Given the description of an element on the screen output the (x, y) to click on. 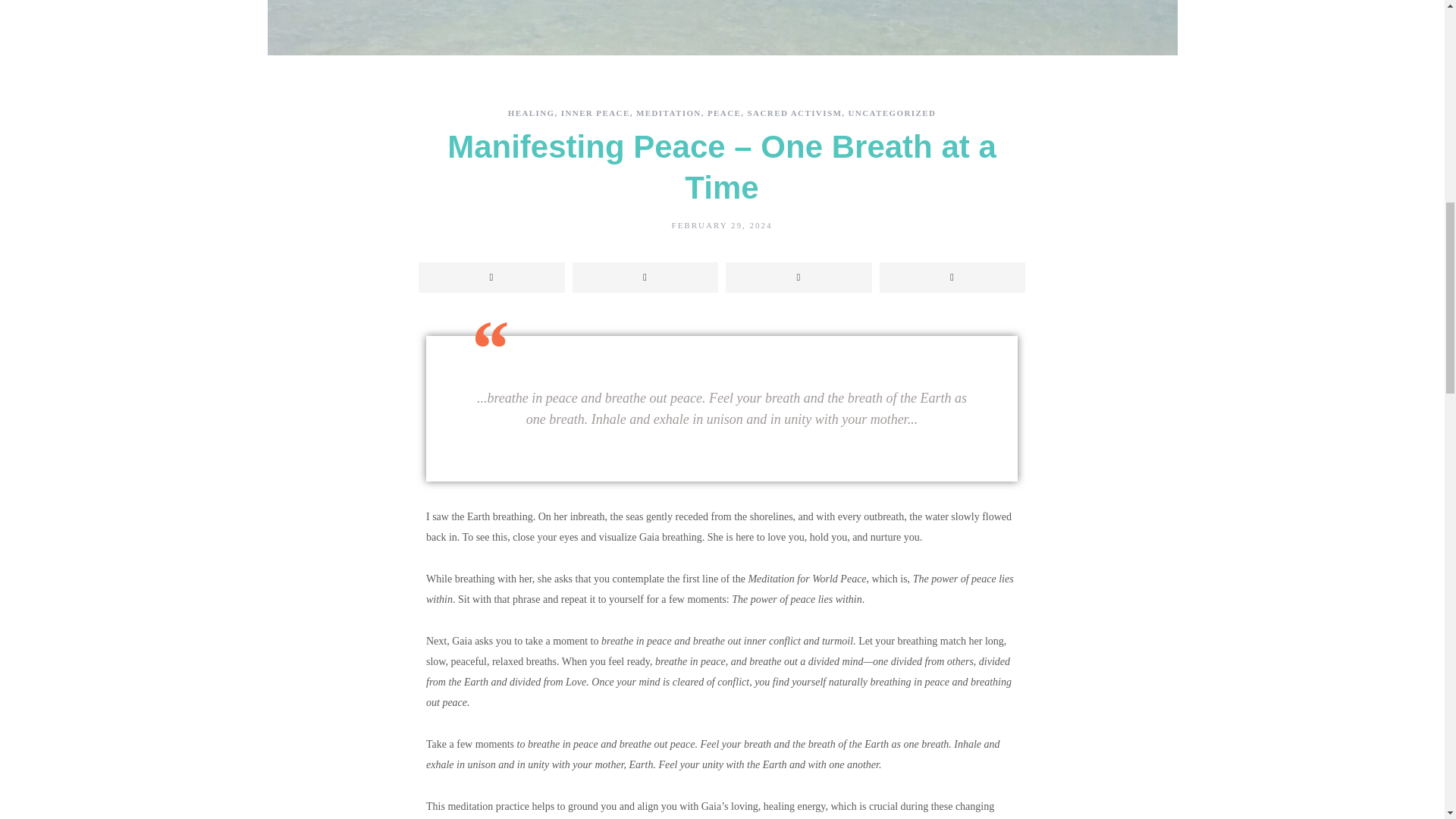
PEACE (724, 112)
INNER PEACE (595, 112)
HEALING (531, 112)
Share to Facebook (491, 277)
UNCATEGORIZED (892, 112)
SACRED ACTIVISM (795, 112)
Share to LinkedIn (798, 277)
Share with E-Mail (952, 277)
MEDITATION (668, 112)
Share to Twitter (644, 277)
